Given the description of an element on the screen output the (x, y) to click on. 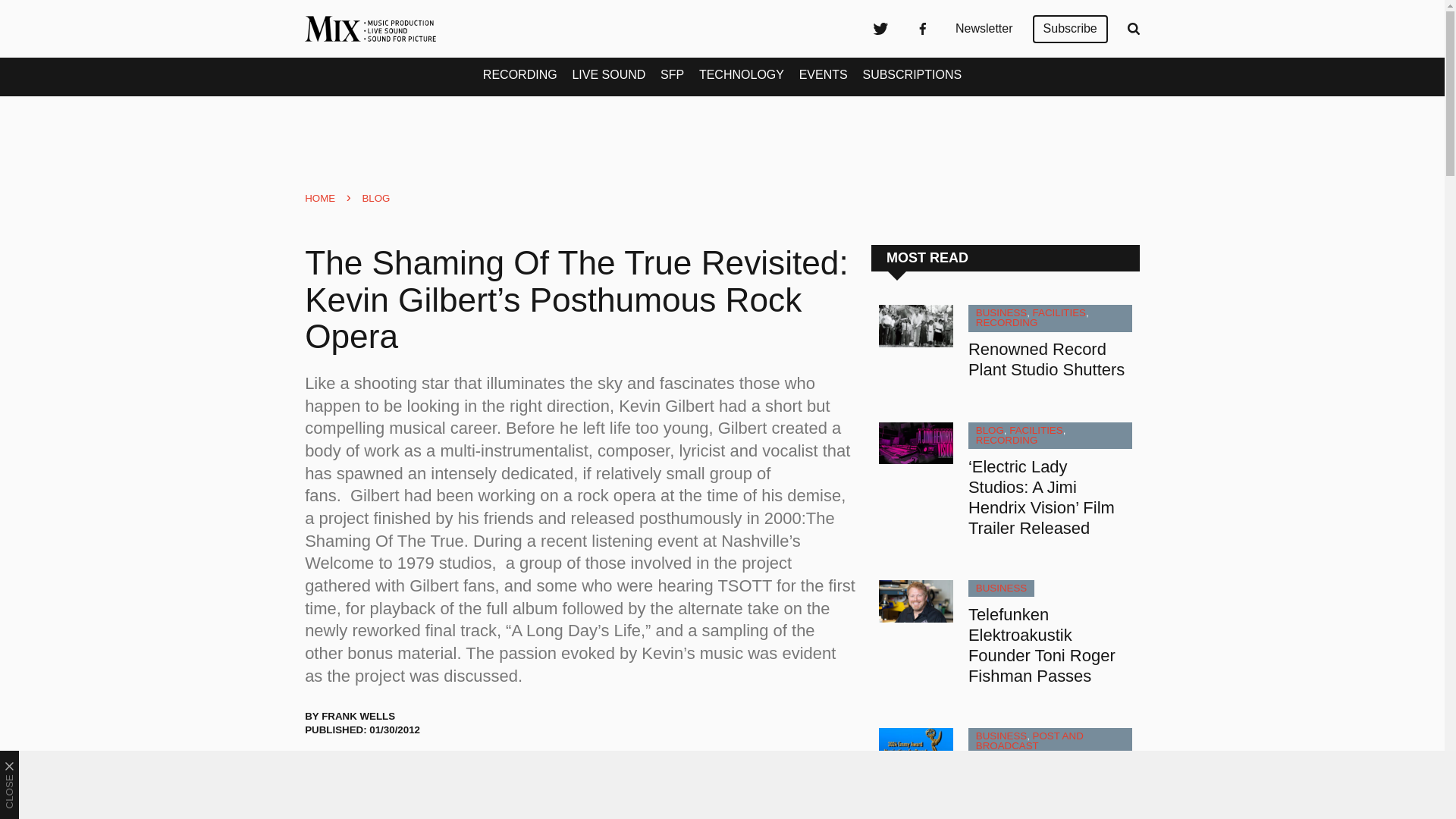
Share on LinkedIn (399, 771)
Share on Twitter (323, 771)
Share via Email (438, 771)
Share on Facebook (361, 771)
